Given the description of an element on the screen output the (x, y) to click on. 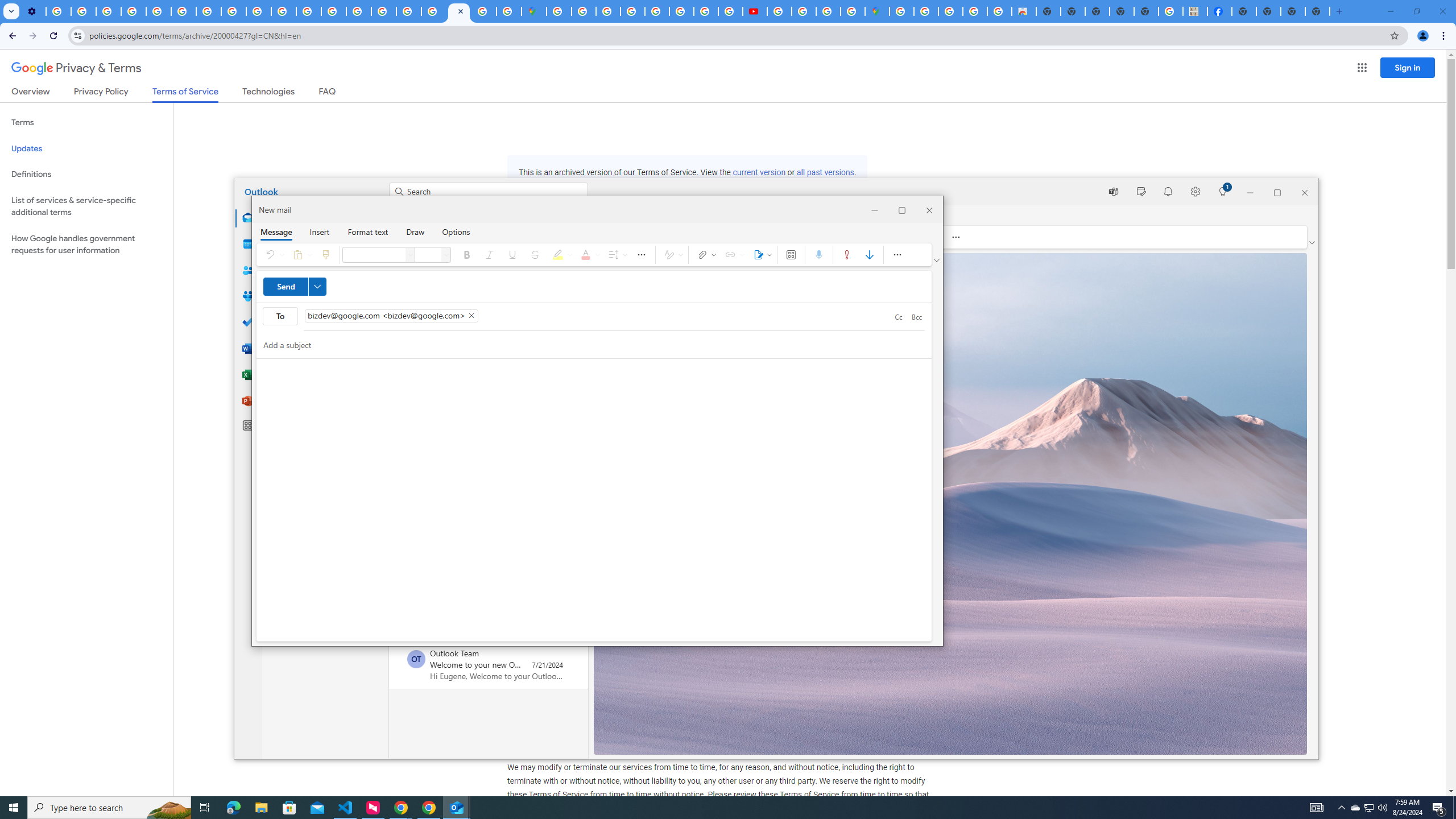
Underline (512, 254)
Link (732, 254)
Type here to search (108, 807)
Format painter (325, 254)
Font (410, 254)
Font size (446, 254)
Outlook (new) - 2 running windows (456, 807)
Attach file (705, 254)
Notifications (1168, 191)
Notification Chevron (1341, 807)
Select a conversation (416, 659)
